Given the description of an element on the screen output the (x, y) to click on. 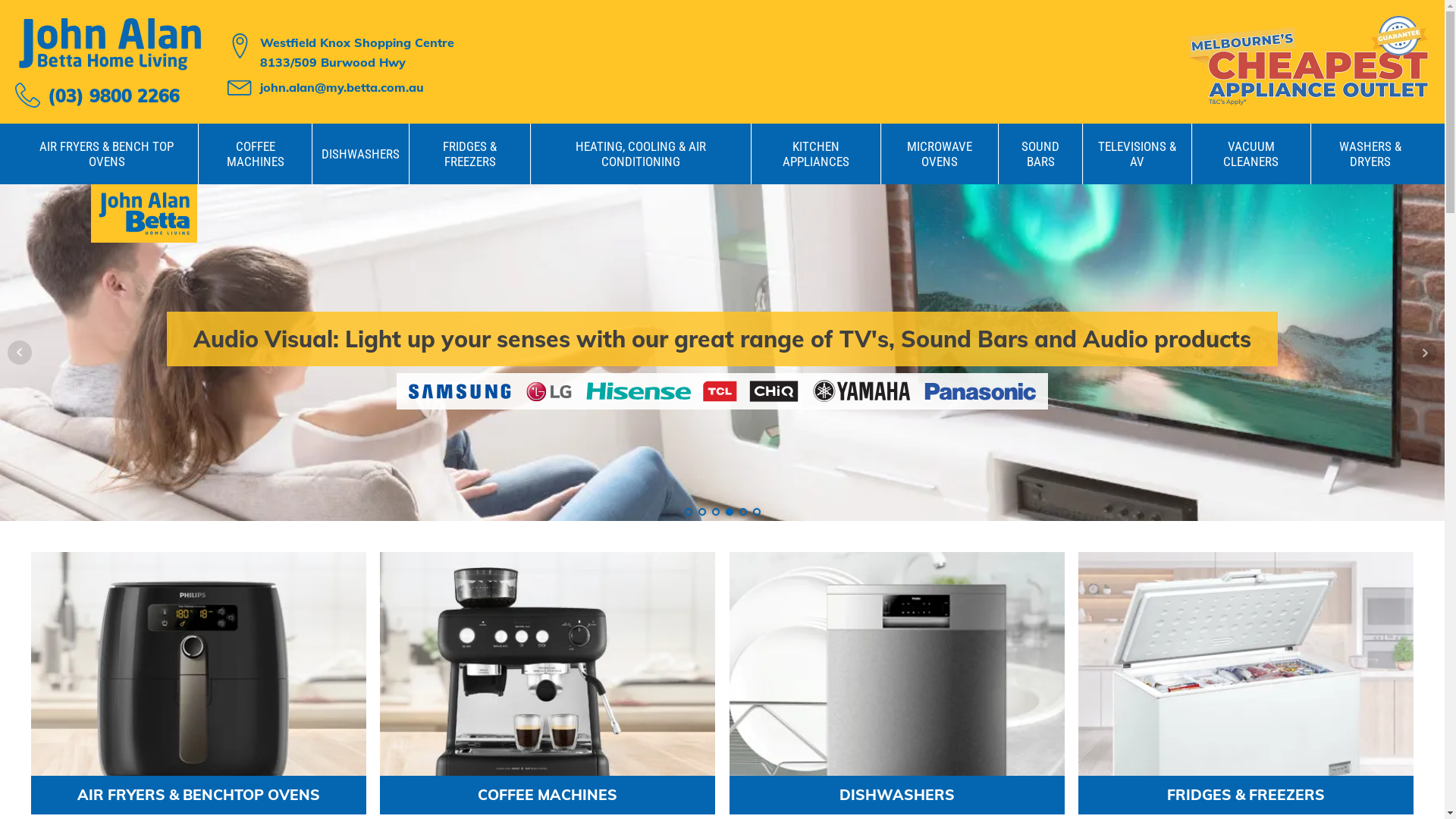
FRIDGES & FREEZERS Element type: text (1245, 682)
HEATING, COOLING & AIR CONDITIONING Element type: text (640, 153)
john.alan@my.betta.com.au Element type: text (341, 87)
DISHWASHERS Element type: text (360, 153)
FRIDGES & FREEZERS Element type: text (469, 153)
WASHERS & DRYERS Element type: text (1370, 153)
TELEVISIONS & AV Element type: text (1136, 153)
AIR FRYERS & BENCHTOP OVENS Element type: text (198, 682)
KITCHEN APPLIANCES Element type: text (815, 153)
VACUUM CLEANERS Element type: text (1250, 153)
Prev Element type: text (19, 352)
(03) 9800 2266 Element type: text (97, 95)
COFFEE MACHINES Element type: text (547, 682)
COFFEE MACHINES Element type: text (254, 153)
MICROWAVE OVENS Element type: text (939, 153)
AIR FRYERS & BENCH TOP OVENS Element type: text (106, 153)
Next Element type: text (1424, 352)
SOUND BARS Element type: text (1040, 153)
DISHWASHERS Element type: text (896, 682)
